Given the description of an element on the screen output the (x, y) to click on. 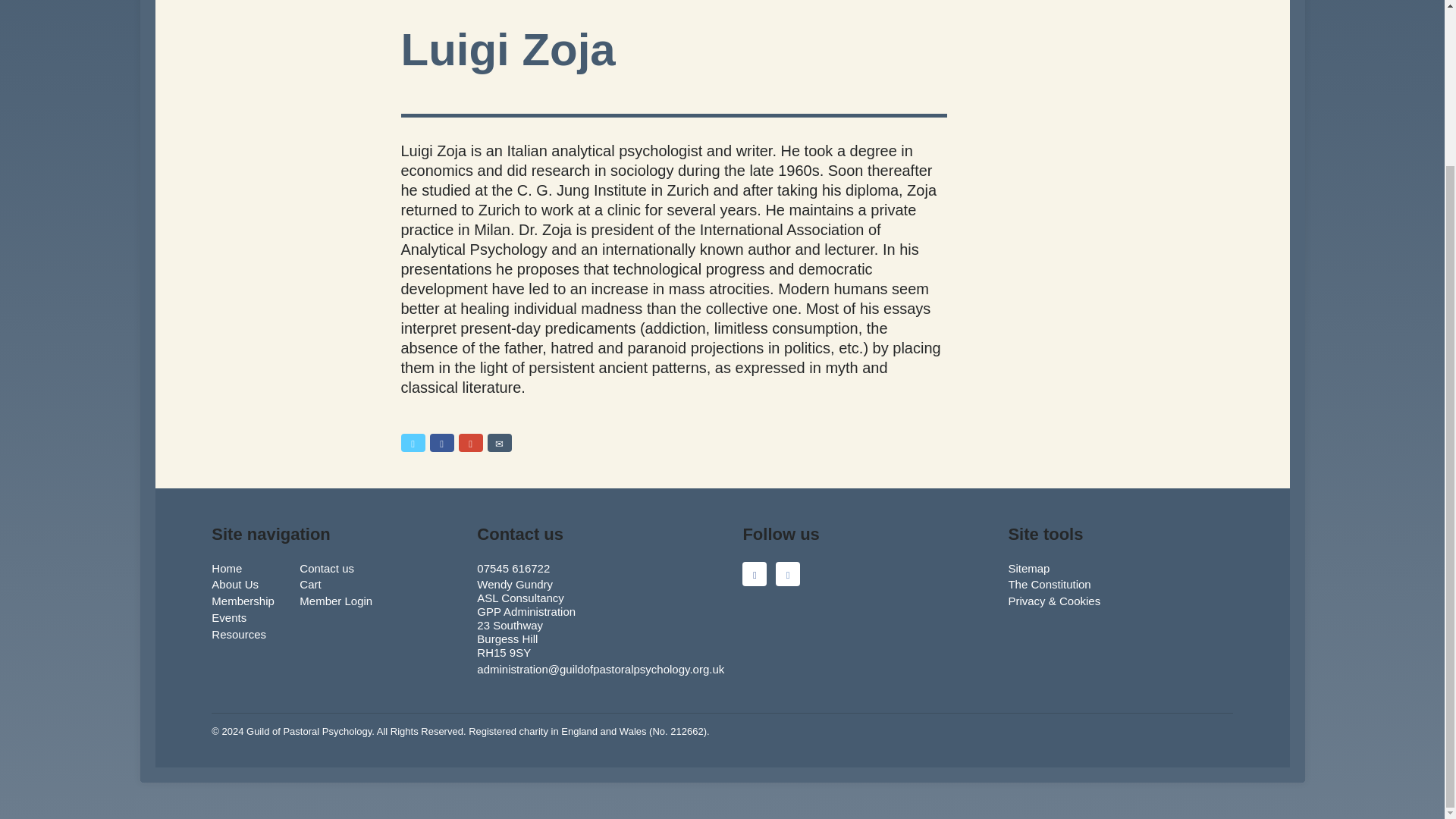
Events (228, 617)
About Us (235, 584)
Contact us (326, 567)
Cart (309, 584)
Resources (238, 634)
Membership (243, 600)
Sitemap (1028, 567)
The Constitution (1048, 584)
Member Login (335, 600)
Home (226, 567)
